Given the description of an element on the screen output the (x, y) to click on. 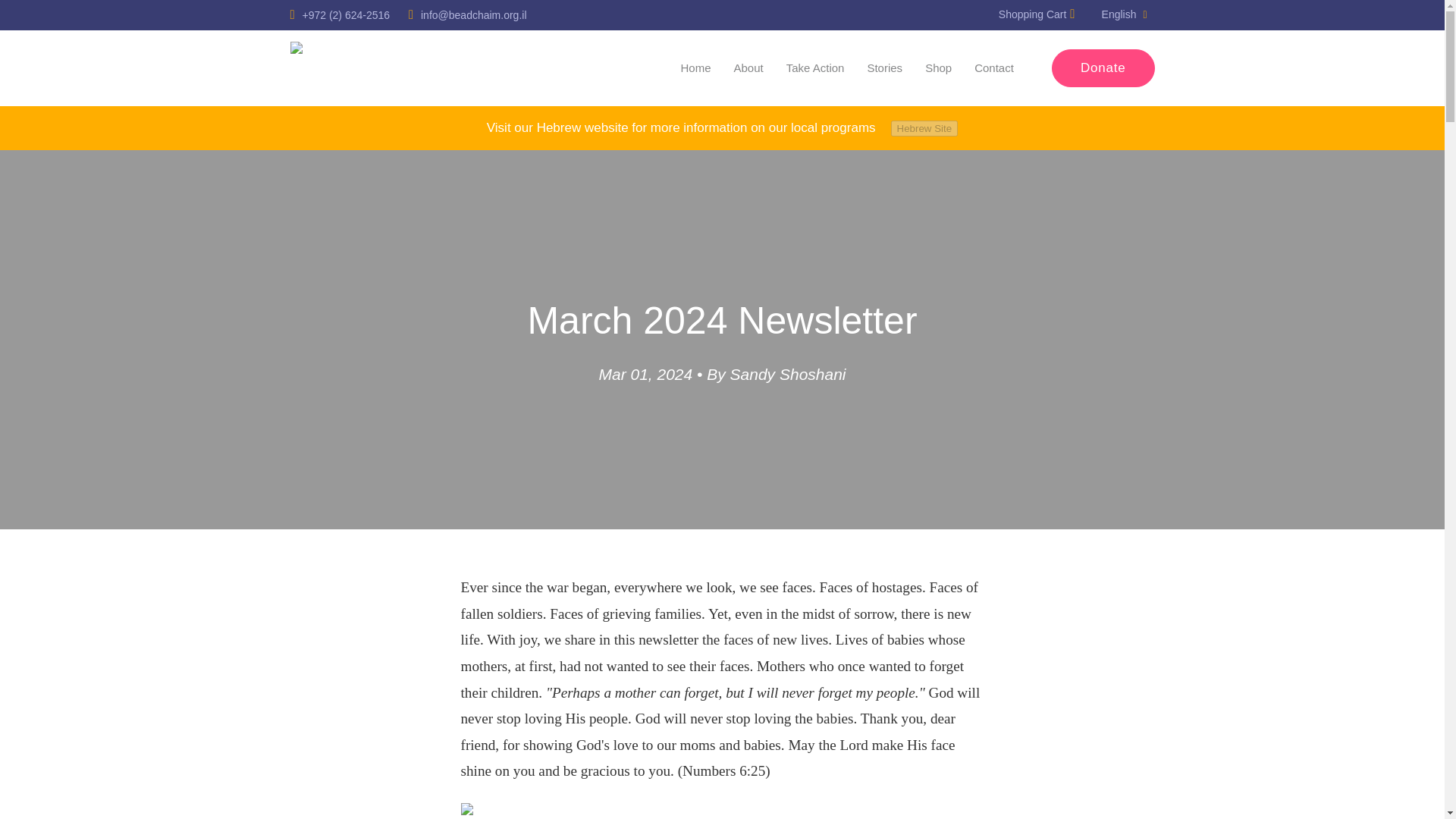
About (747, 69)
Donate (1102, 67)
Take Action (815, 69)
Shop (938, 69)
Stories (884, 69)
Hebrew Site (924, 128)
Contact (993, 69)
Home (696, 69)
Hebrew Site (924, 127)
